Given the description of an element on the screen output the (x, y) to click on. 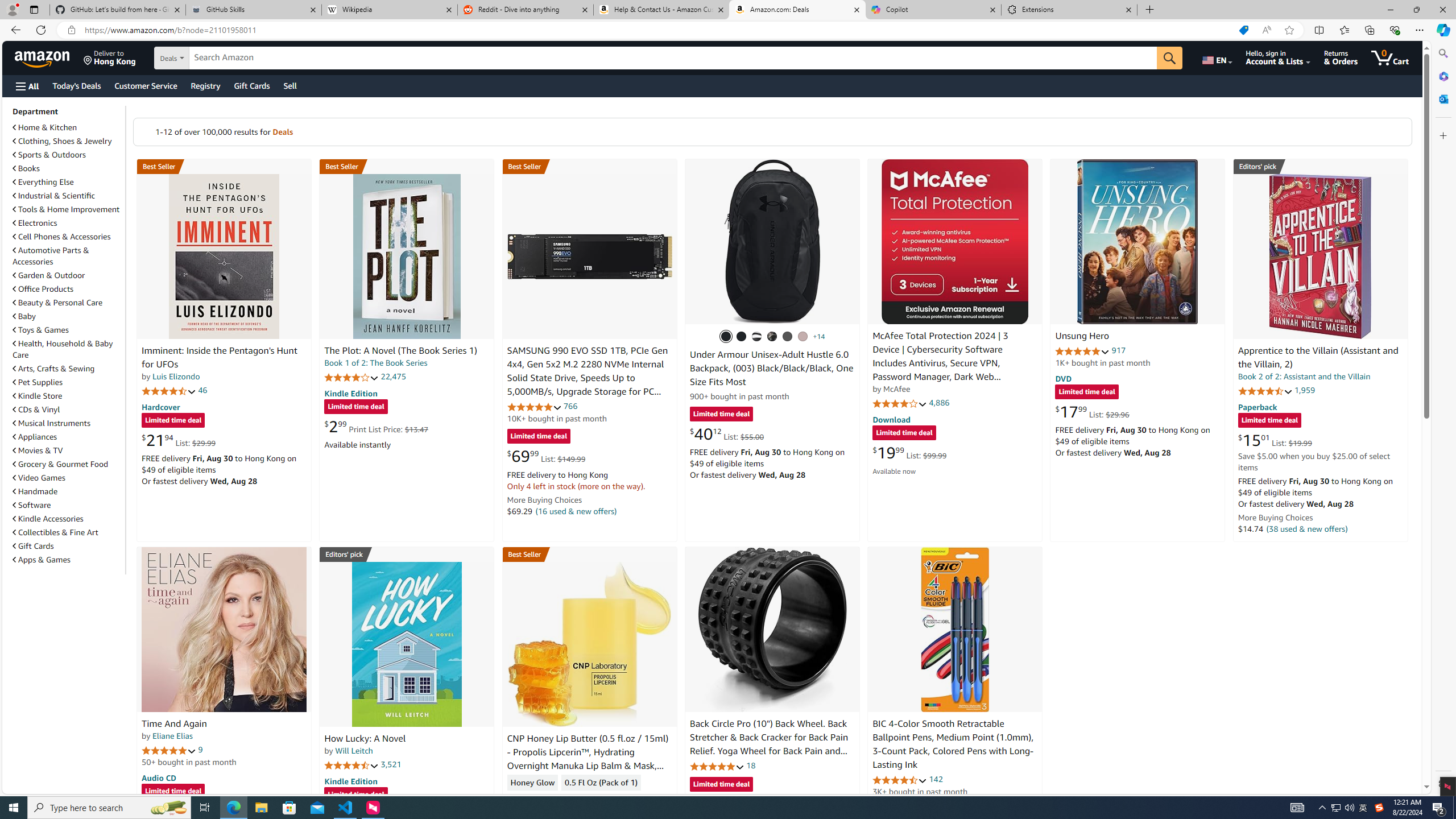
Handmade (67, 491)
(16 used & new offers) (576, 511)
Handmade (35, 491)
Kindle Edition (350, 780)
Best Seller in Lip Butters (589, 553)
Collectibles & Fine Art (67, 532)
Cell Phones & Accessories (67, 236)
Health, Household & Baby Care (67, 348)
4.8 out of 5 stars (716, 766)
Imminent: Inside the Pentagon's Hunt for UFOs (219, 358)
